Given the description of an element on the screen output the (x, y) to click on. 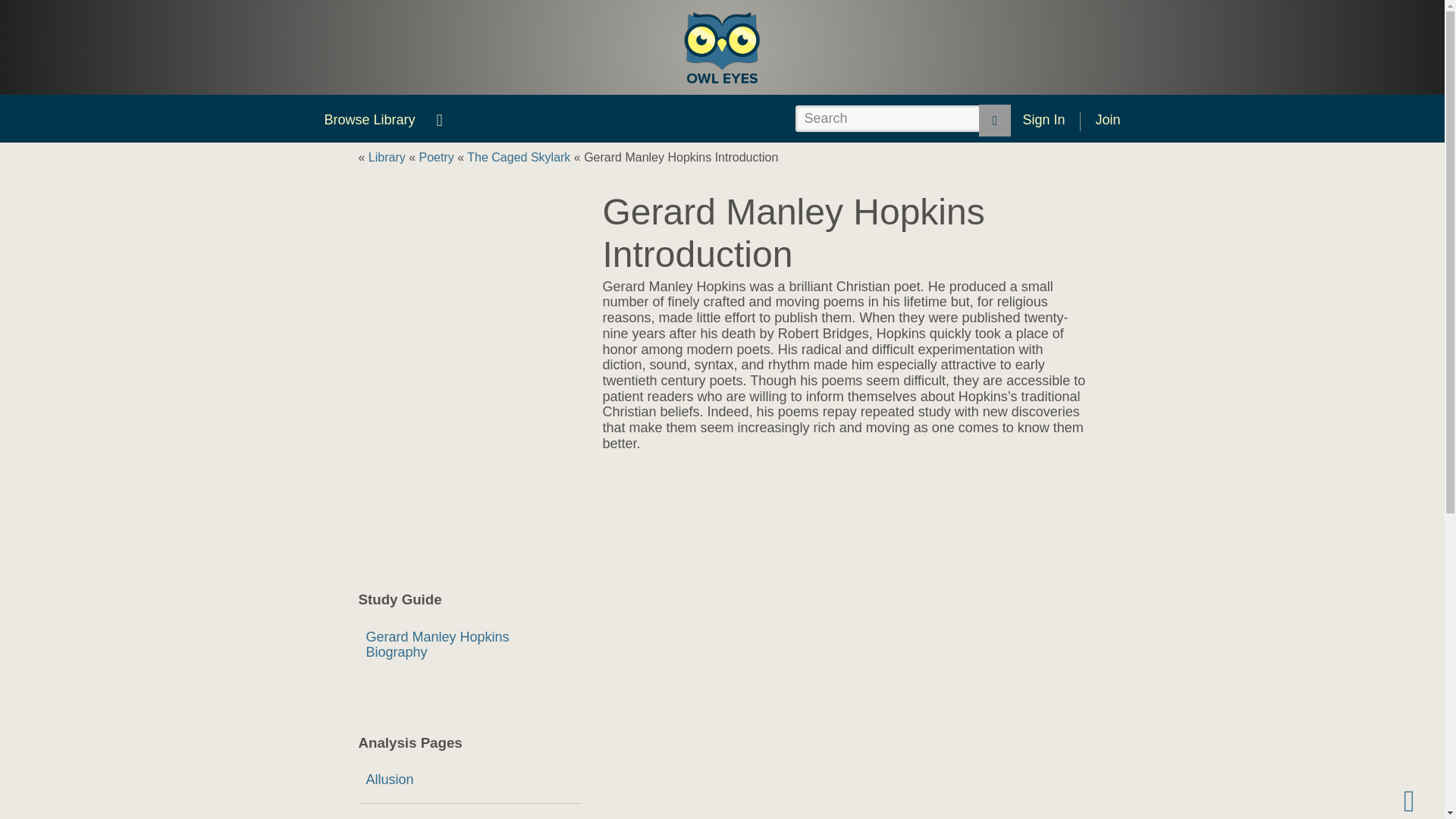
The Caged Skylark Literary Devices (468, 811)
The Caged Skylark Allusion (468, 779)
Sign In (1042, 119)
Browse Library (369, 119)
Join (1107, 119)
The Caged Skylark Gerard Manley Hopkins Biography (468, 644)
